Given the description of an element on the screen output the (x, y) to click on. 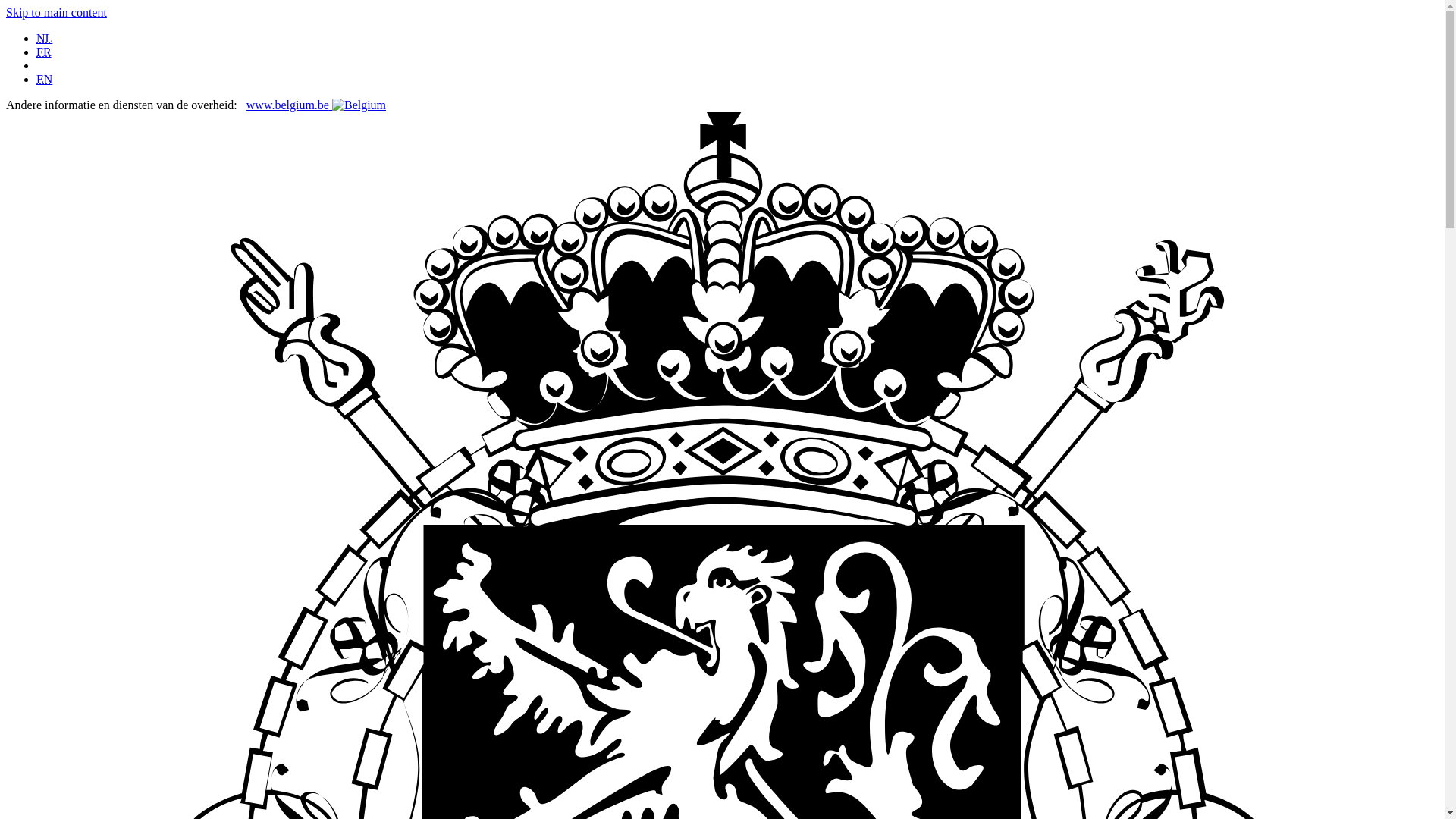
EN Element type: text (44, 78)
Skip to main content Element type: text (56, 12)
FR Element type: text (43, 51)
NL Element type: text (44, 37)
www.belgium.be Element type: text (315, 104)
